Given the description of an element on the screen output the (x, y) to click on. 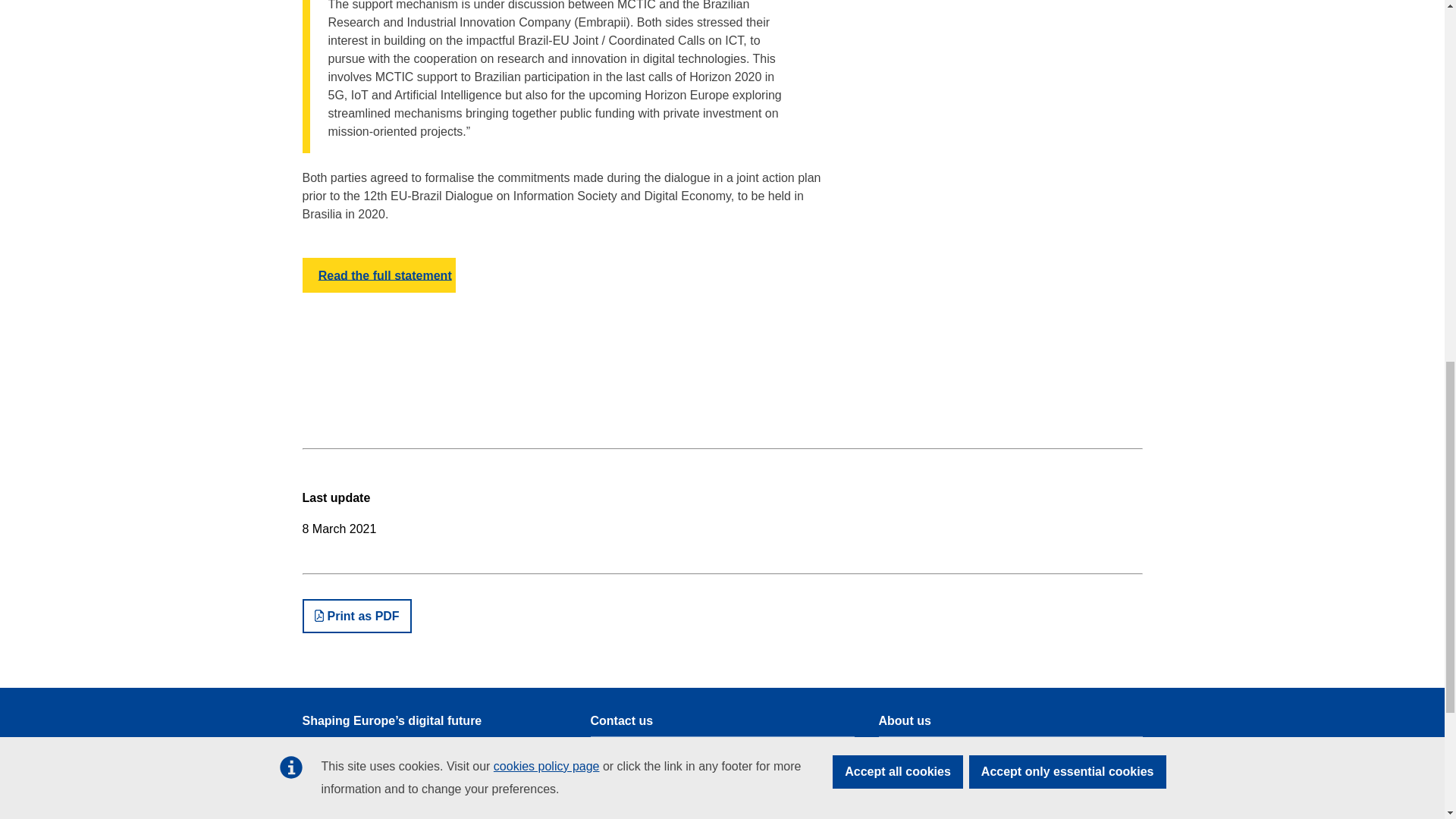
Accessibility (330, 814)
Print as PDF (355, 615)
Digital EU on Facebook (645, 817)
Digital EU on Instagram (776, 817)
Privacy statement (919, 751)
Read the full statement (377, 275)
About Directorate-General CONNECT (967, 806)
Contact DG CONNECT (644, 751)
Copyright notice (916, 778)
